Given the description of an element on the screen output the (x, y) to click on. 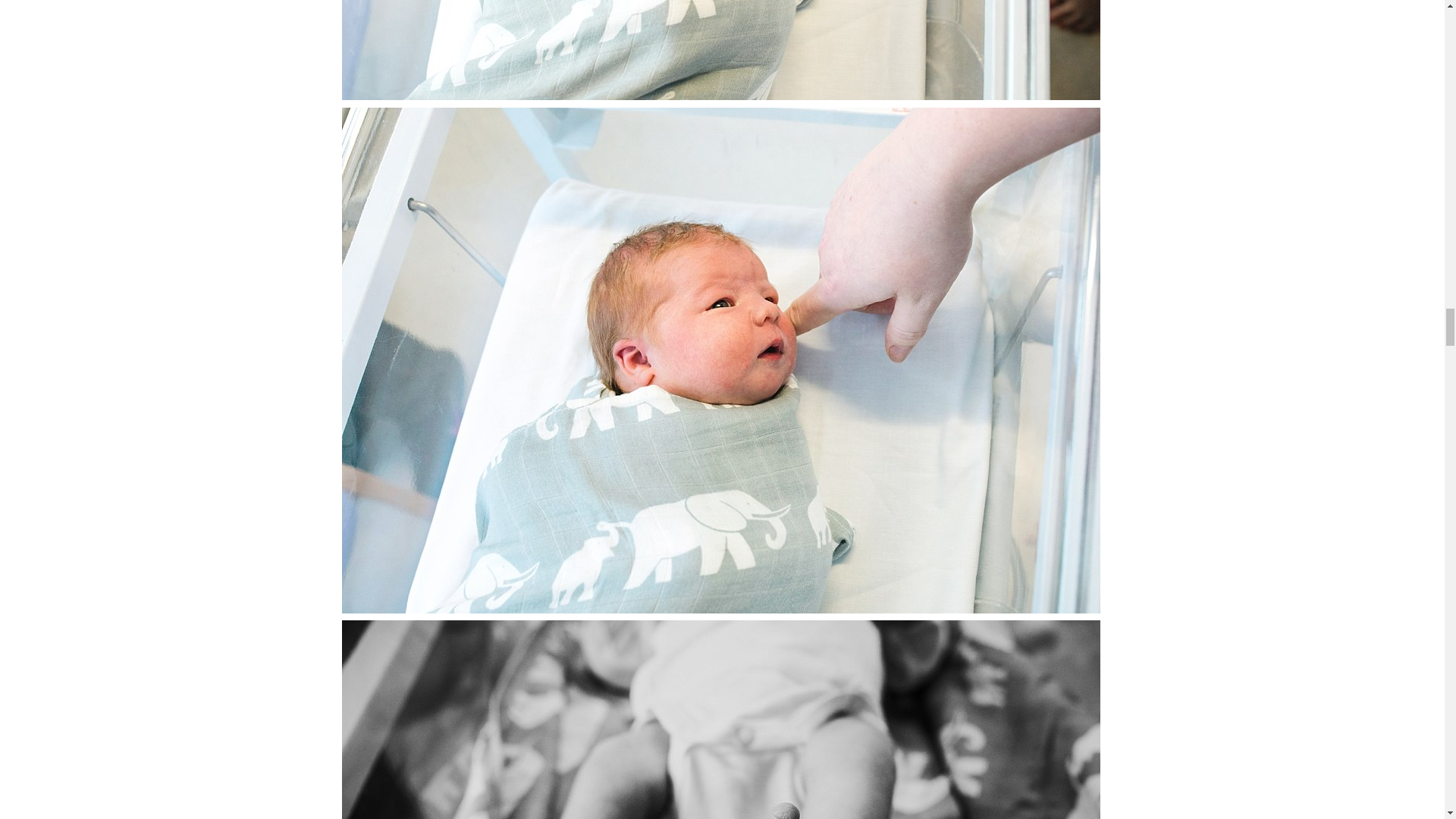
2Y8A4100.jpg (721, 49)
